Given the description of an element on the screen output the (x, y) to click on. 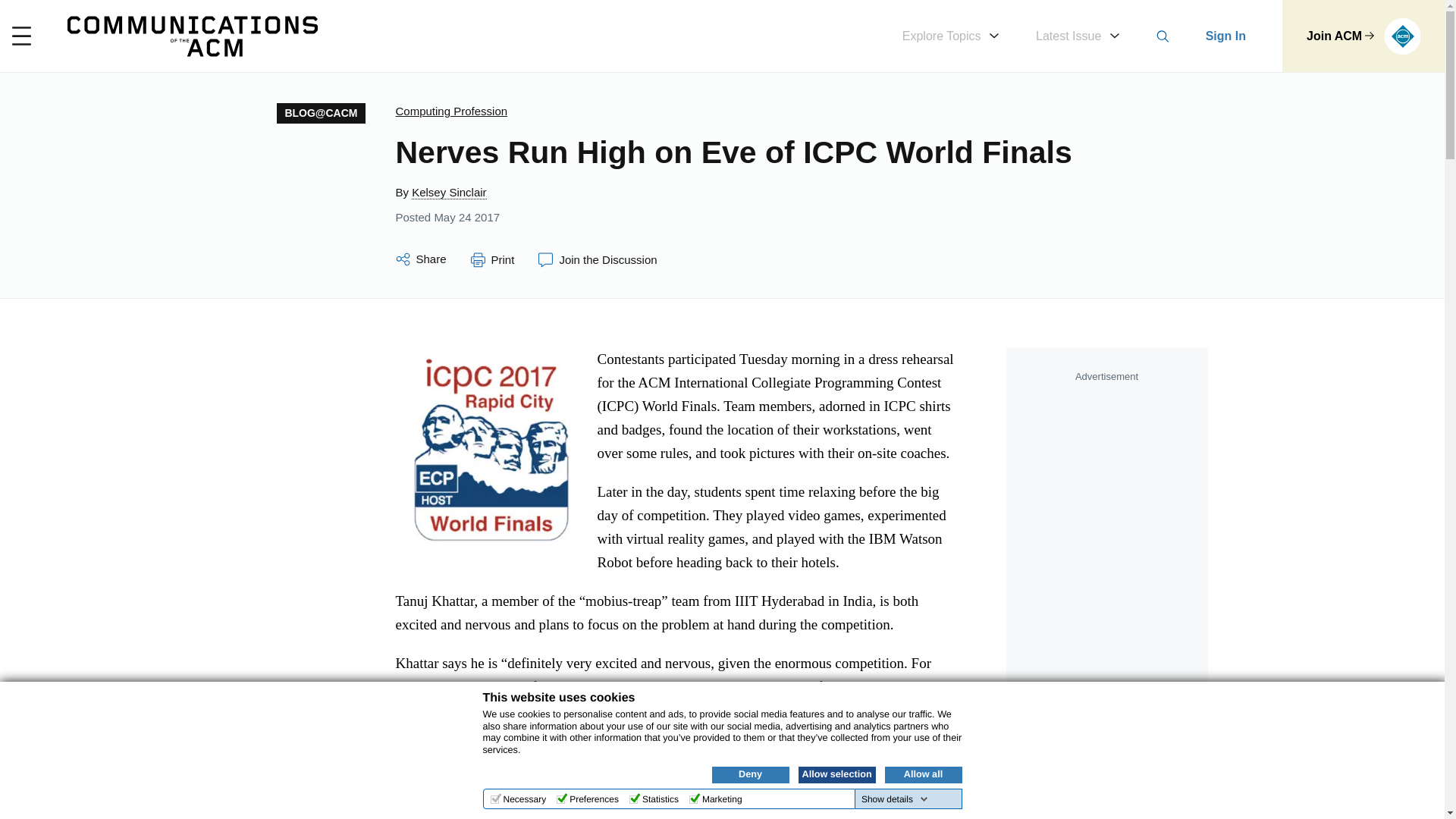
Show details (895, 799)
Deny (750, 774)
Allow selection (836, 774)
Allow all (921, 774)
